Given the description of an element on the screen output the (x, y) to click on. 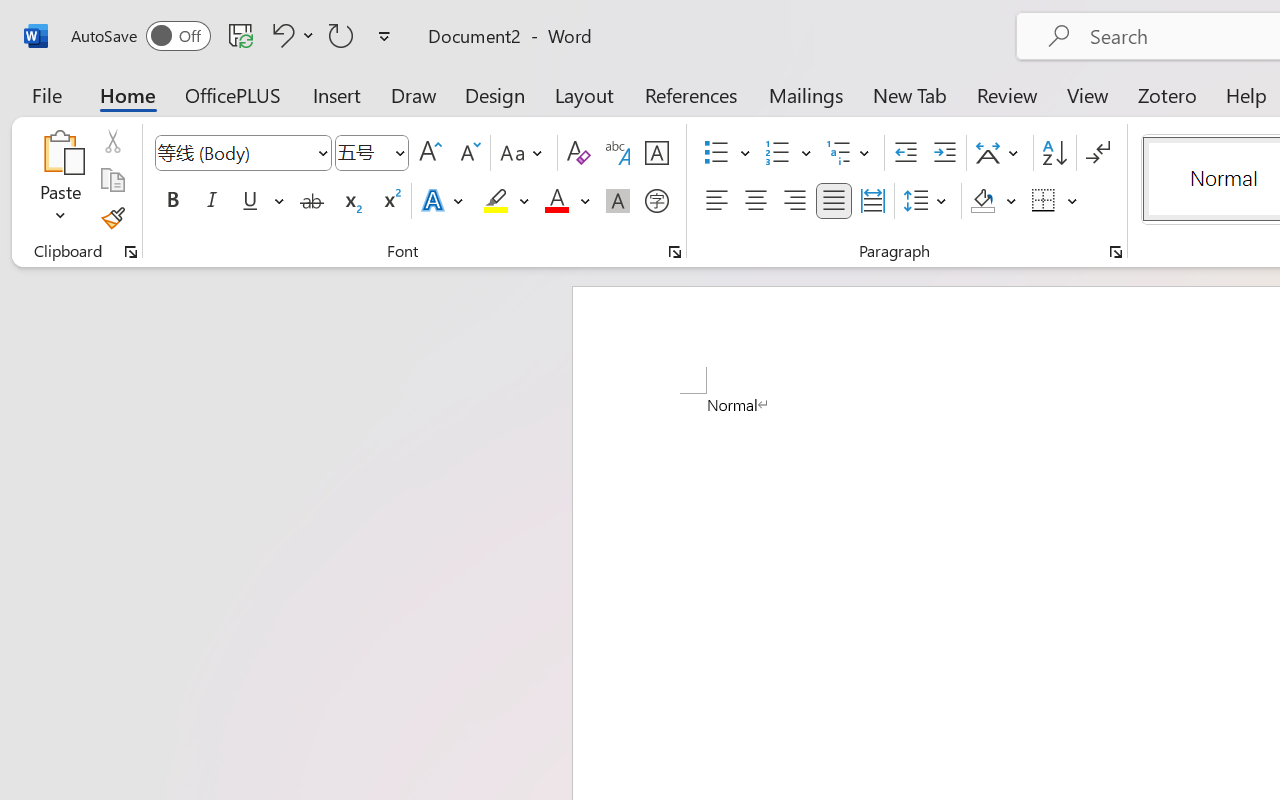
Underline (261, 201)
Bullets (716, 153)
Paste (60, 151)
Italic (212, 201)
Sort... (1054, 153)
Multilevel List (850, 153)
Shrink Font (468, 153)
Change Case (524, 153)
Shading (993, 201)
File Tab (46, 94)
Font Size (362, 152)
References (690, 94)
Paragraph... (1115, 252)
Insert (337, 94)
